Given the description of an element on the screen output the (x, y) to click on. 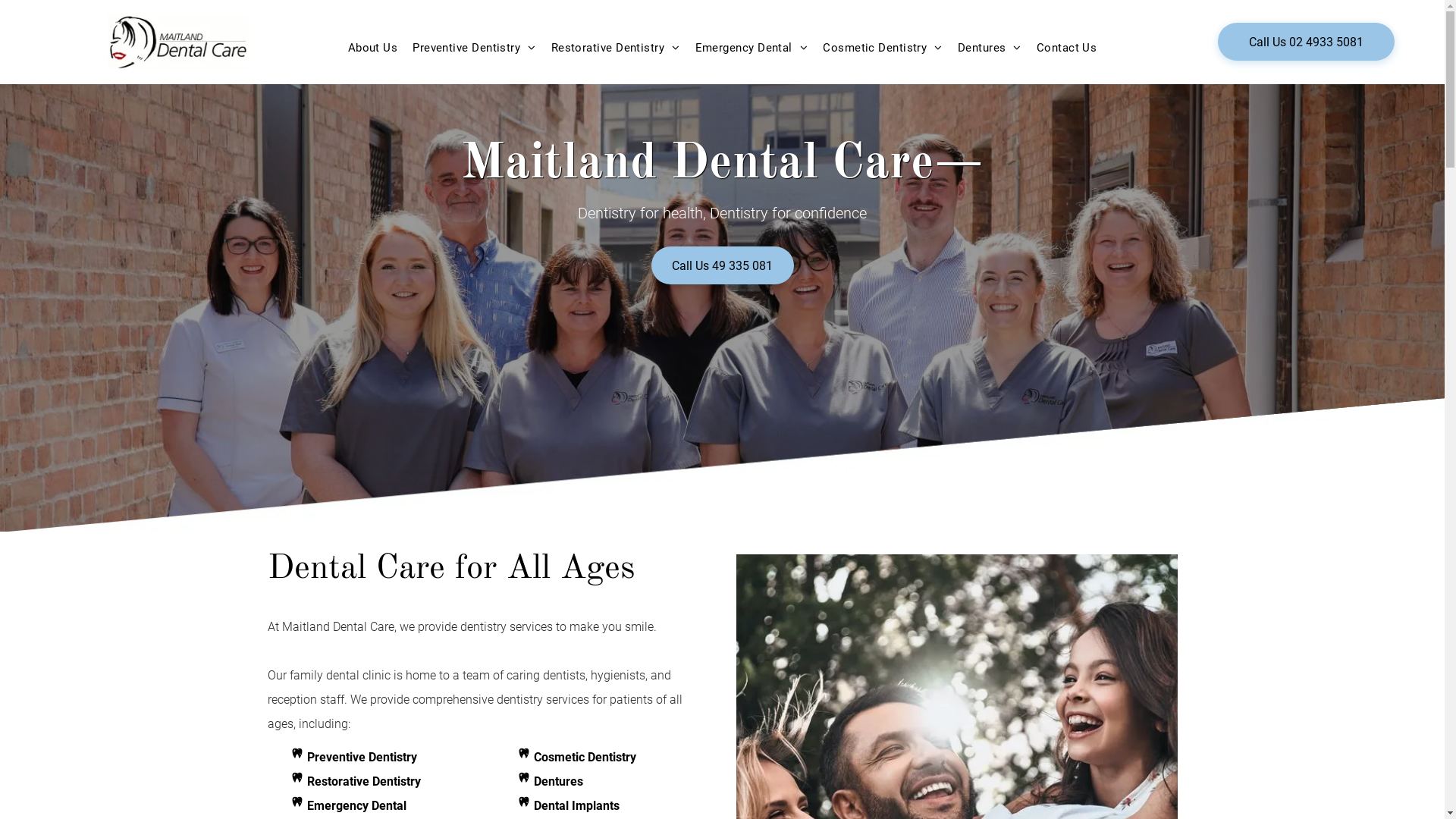
Restorative Dentistry Element type: text (615, 47)
Call Us 02 4933 5081 Element type: text (1305, 41)
Preventive Dentistry Element type: text (361, 756)
Restorative Dentistry Element type: text (363, 781)
Dentures Element type: text (558, 781)
About Us Element type: text (372, 47)
Cosmetic Dentistry Element type: text (882, 47)
Preventive Dentistry Element type: text (473, 47)
Emergency Dental Element type: text (355, 805)
Emergency Dental Element type: text (751, 47)
Contact Us Element type: text (1066, 47)
Call Us 49 335 081 Element type: text (721, 265)
Dentures Element type: text (989, 47)
Cosmetic Dentistry Element type: text (584, 756)
Dental Implants Element type: text (576, 805)
